Given the description of an element on the screen output the (x, y) to click on. 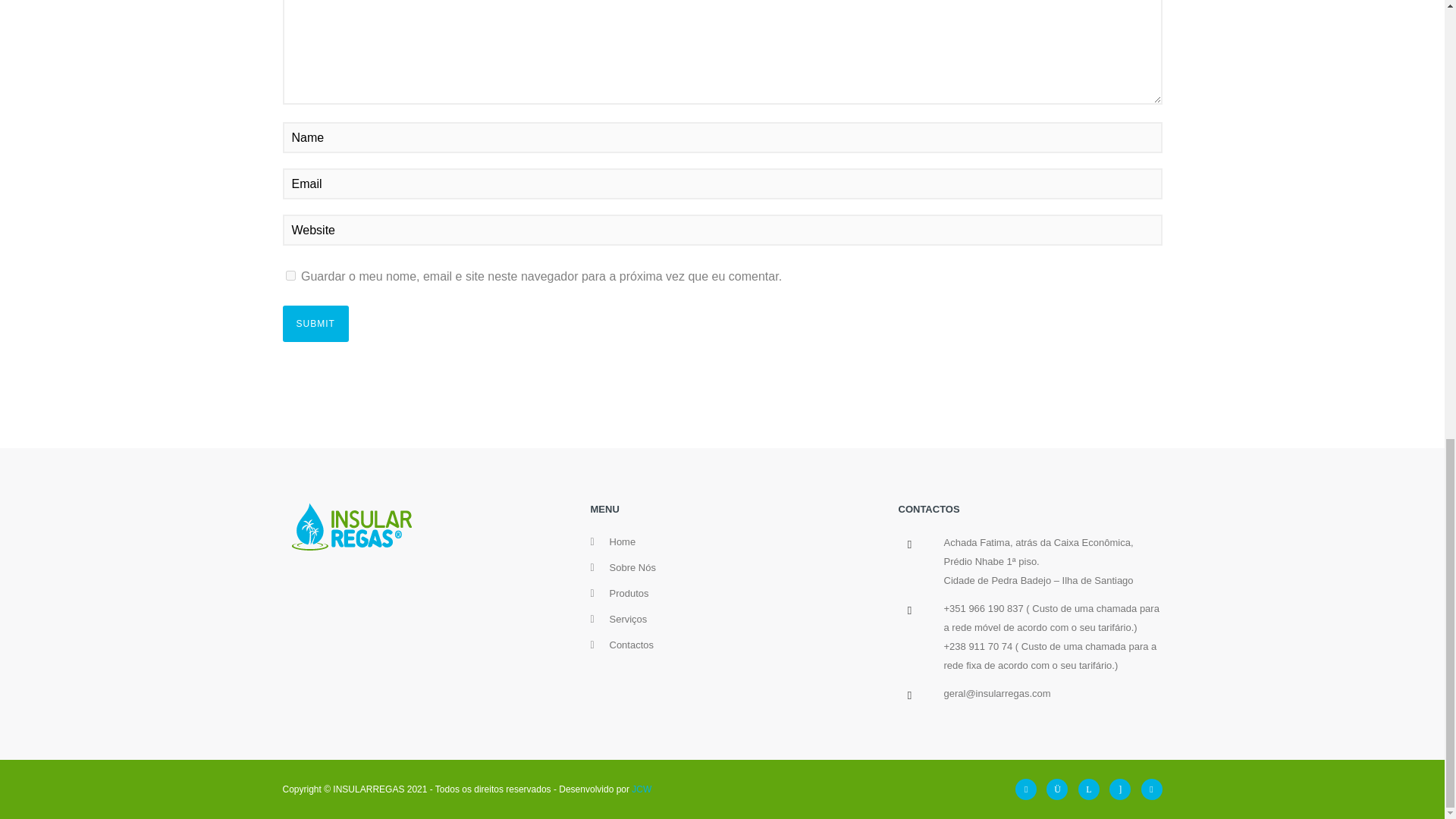
yes (290, 275)
Submit (314, 323)
Home (623, 541)
Home (623, 541)
Submit (314, 323)
Produtos (629, 593)
JCW (640, 788)
Contactos (631, 644)
